Given the description of an element on the screen output the (x, y) to click on. 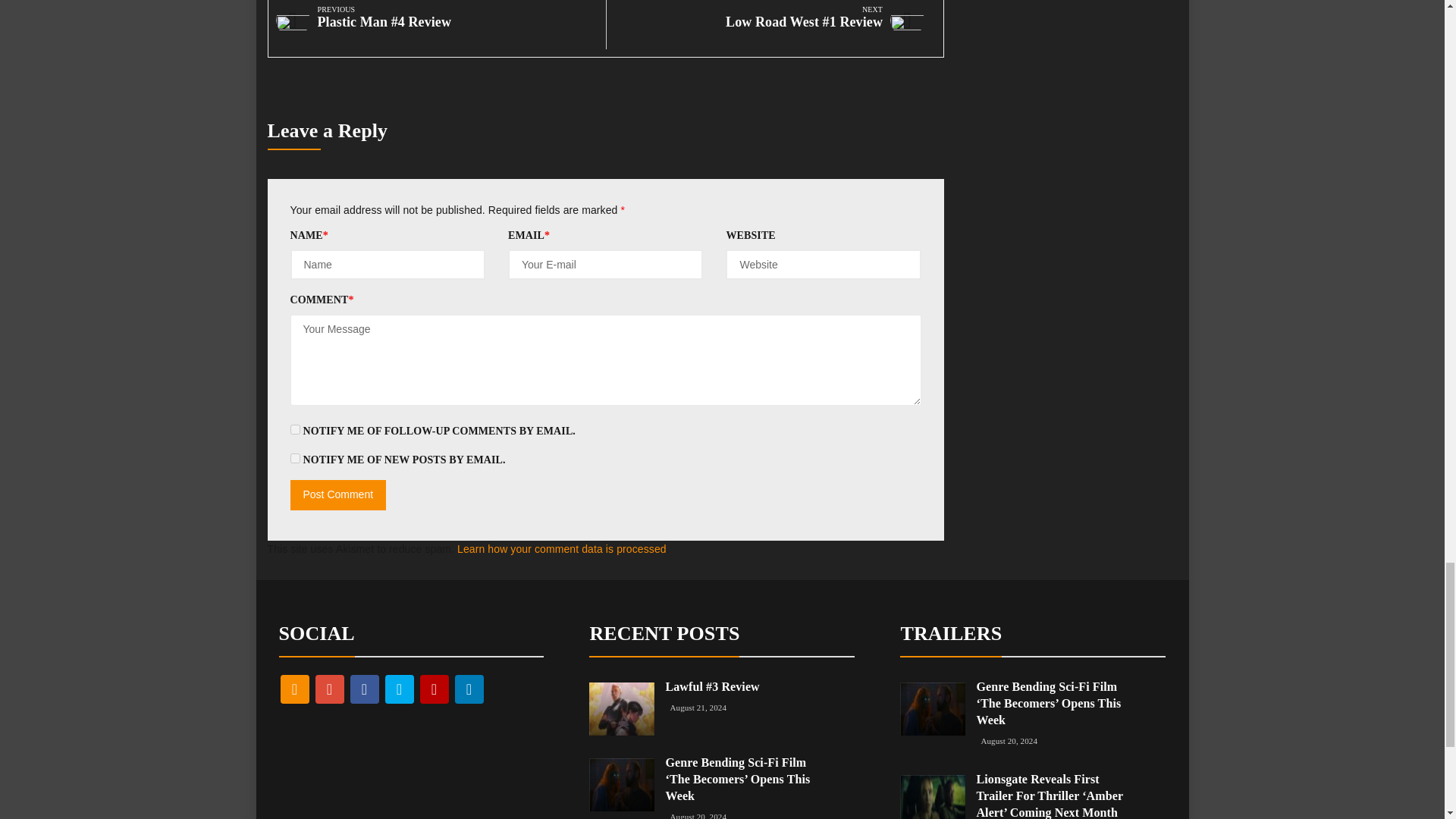
subscribe (294, 458)
Post Comment (337, 494)
subscribe (294, 429)
